Given the description of an element on the screen output the (x, y) to click on. 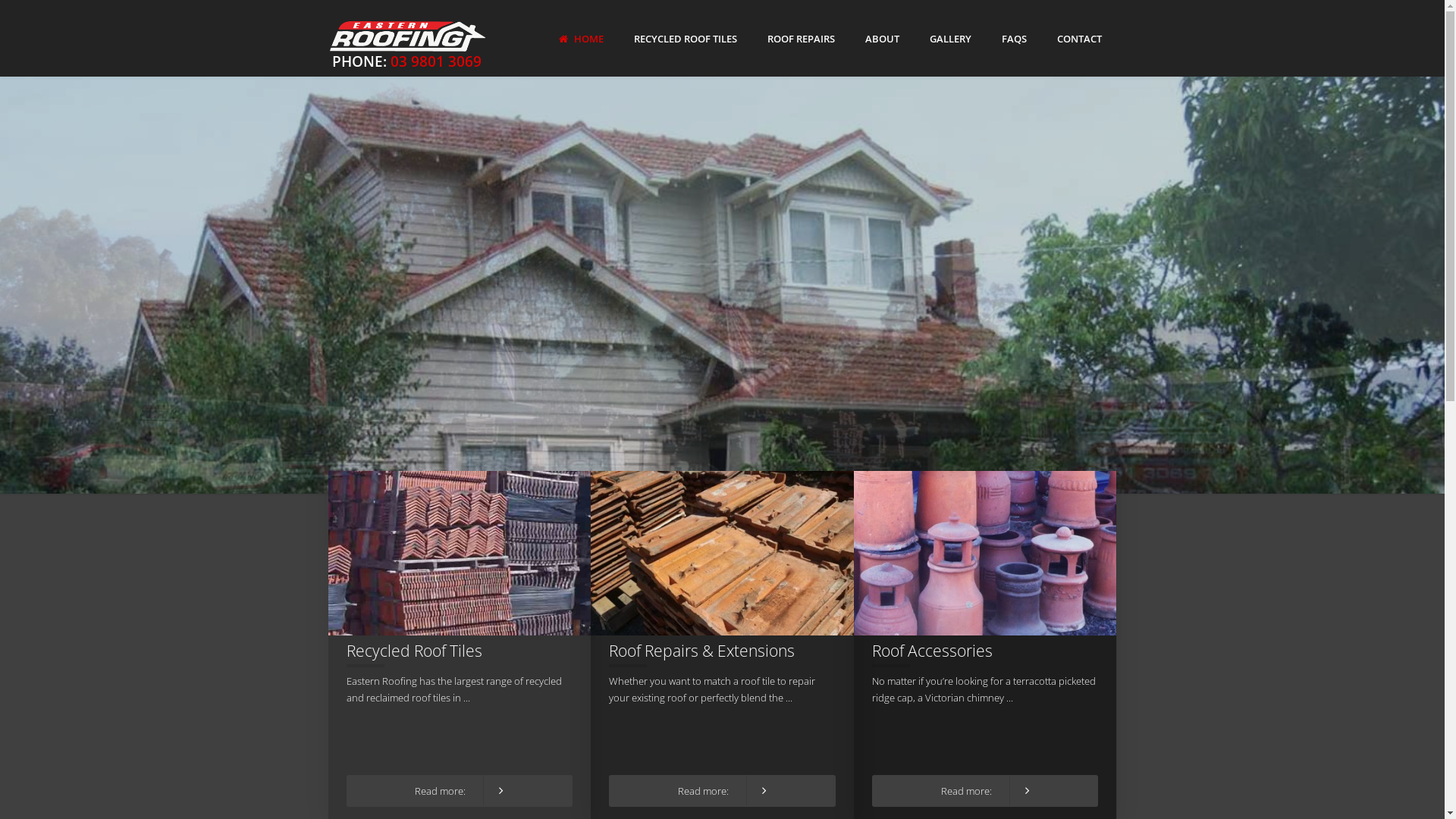
Recycled Roof Tiles Element type: text (414, 650)
Melbourne's biggest stockist of second-hand roof tiles Element type: text (280, 359)
Roof Repairs & Extensions Element type: hover (721, 552)
Roof Accessories Element type: text (932, 650)
Roof Accessories Element type: hover (985, 552)
Roof Repairs & Extensions Element type: text (701, 650)
Read more: Element type: text (459, 790)
Read more: Element type: text (721, 790)
03 9801 3069 Element type: text (434, 60)
Read more: Element type: text (985, 790)
Recycled Roof Tiles Element type: hover (458, 552)
